Given the description of an element on the screen output the (x, y) to click on. 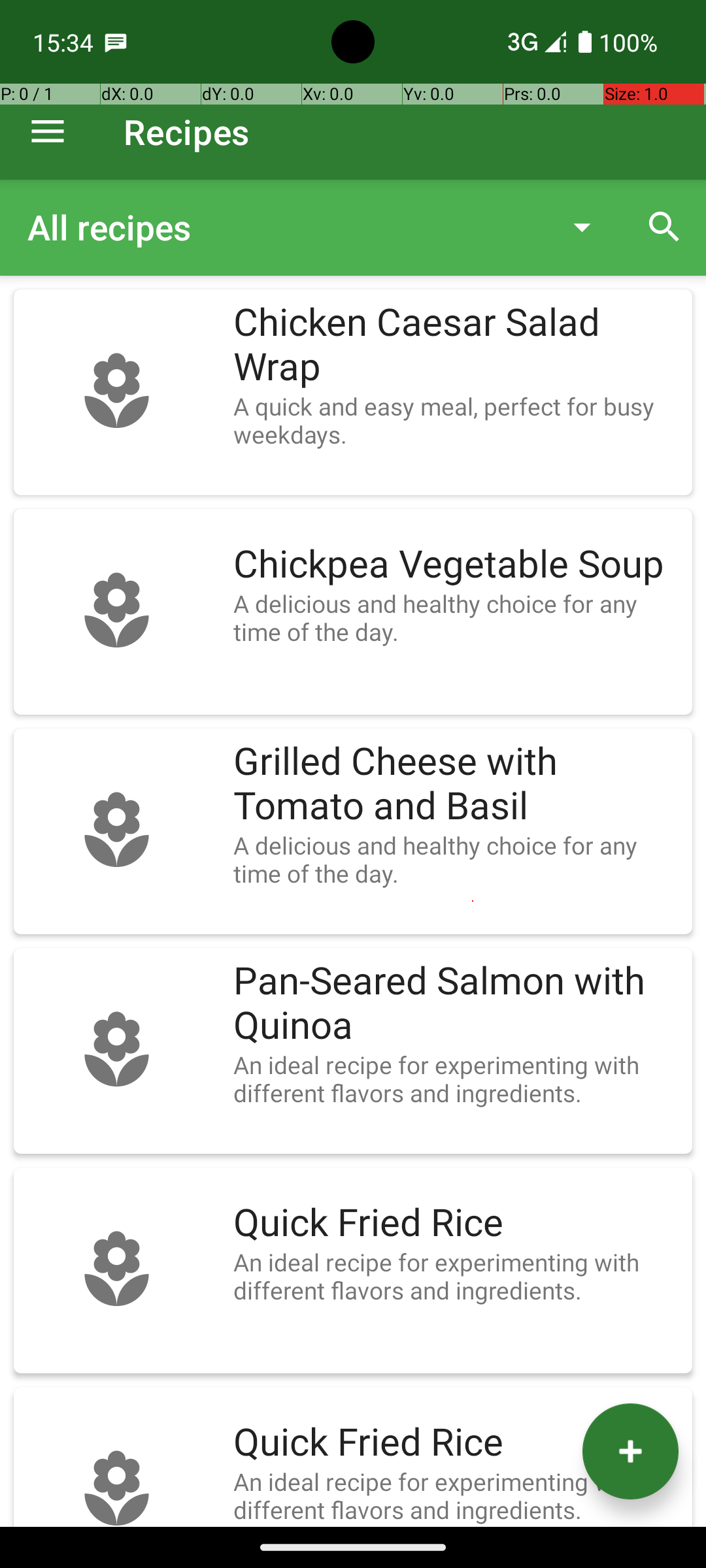
Chicken Caesar Salad Wrap Element type: android.widget.TextView (455, 344)
Chickpea Vegetable Soup Element type: android.widget.TextView (455, 564)
Grilled Cheese with Tomato and Basil Element type: android.widget.TextView (455, 783)
Pan-Seared Salmon with Quinoa Element type: android.widget.TextView (455, 1003)
Quick Fried Rice Element type: android.widget.TextView (455, 1222)
